Given the description of an element on the screen output the (x, y) to click on. 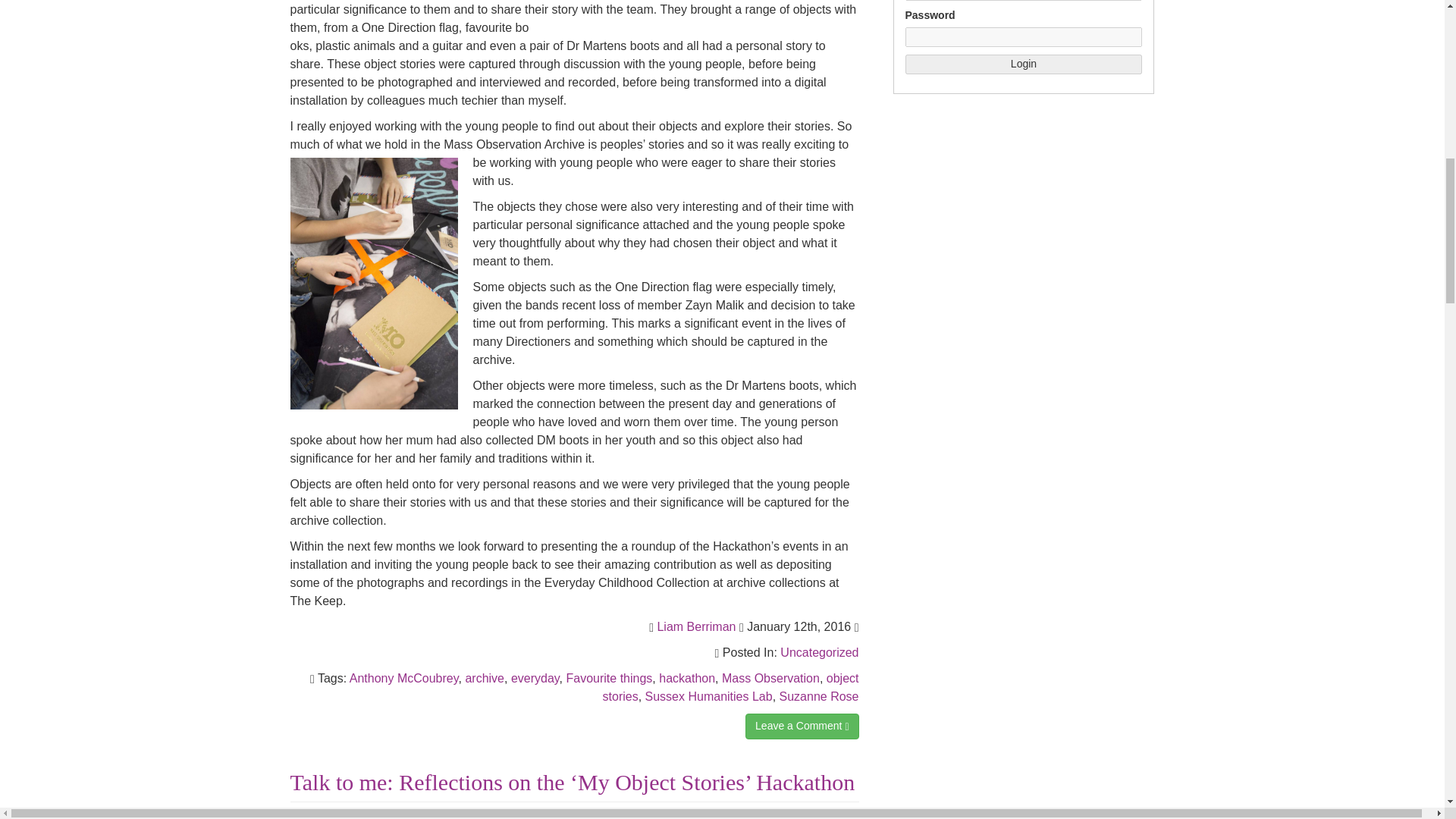
Anthony McCoubrey (403, 677)
Login (1023, 64)
Favourite things (609, 677)
archive (483, 677)
Liam Berriman (695, 626)
Suzanne Rose (818, 696)
Sussex Humanities Lab (709, 696)
Leave a Comment (802, 726)
object stories (730, 686)
Uncategorized (819, 652)
